Given the description of an element on the screen output the (x, y) to click on. 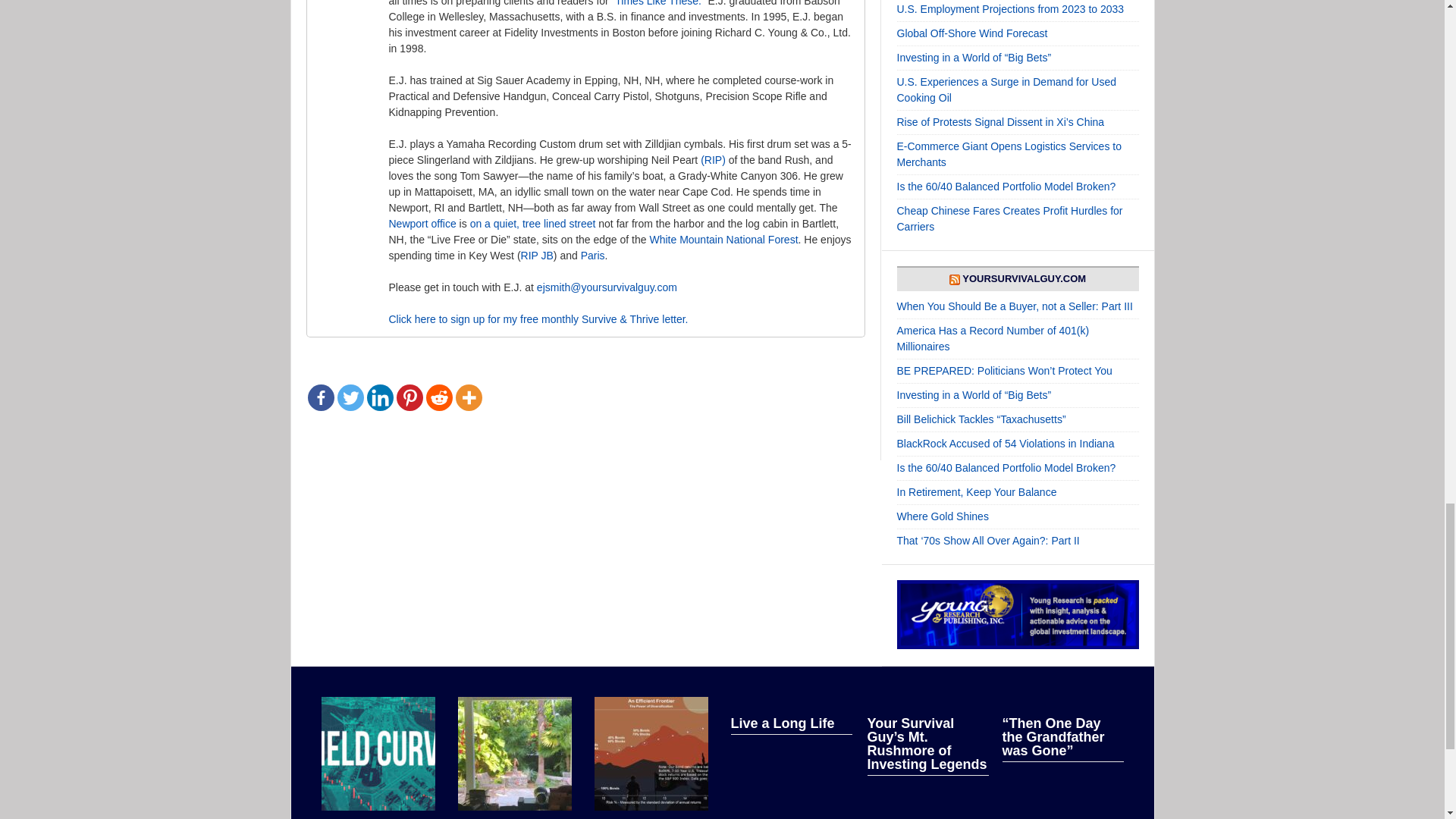
Twitter (349, 397)
More (467, 397)
Facebook (320, 397)
Reddit (439, 397)
Linkedin (379, 397)
Pinterest (409, 397)
